Given the description of an element on the screen output the (x, y) to click on. 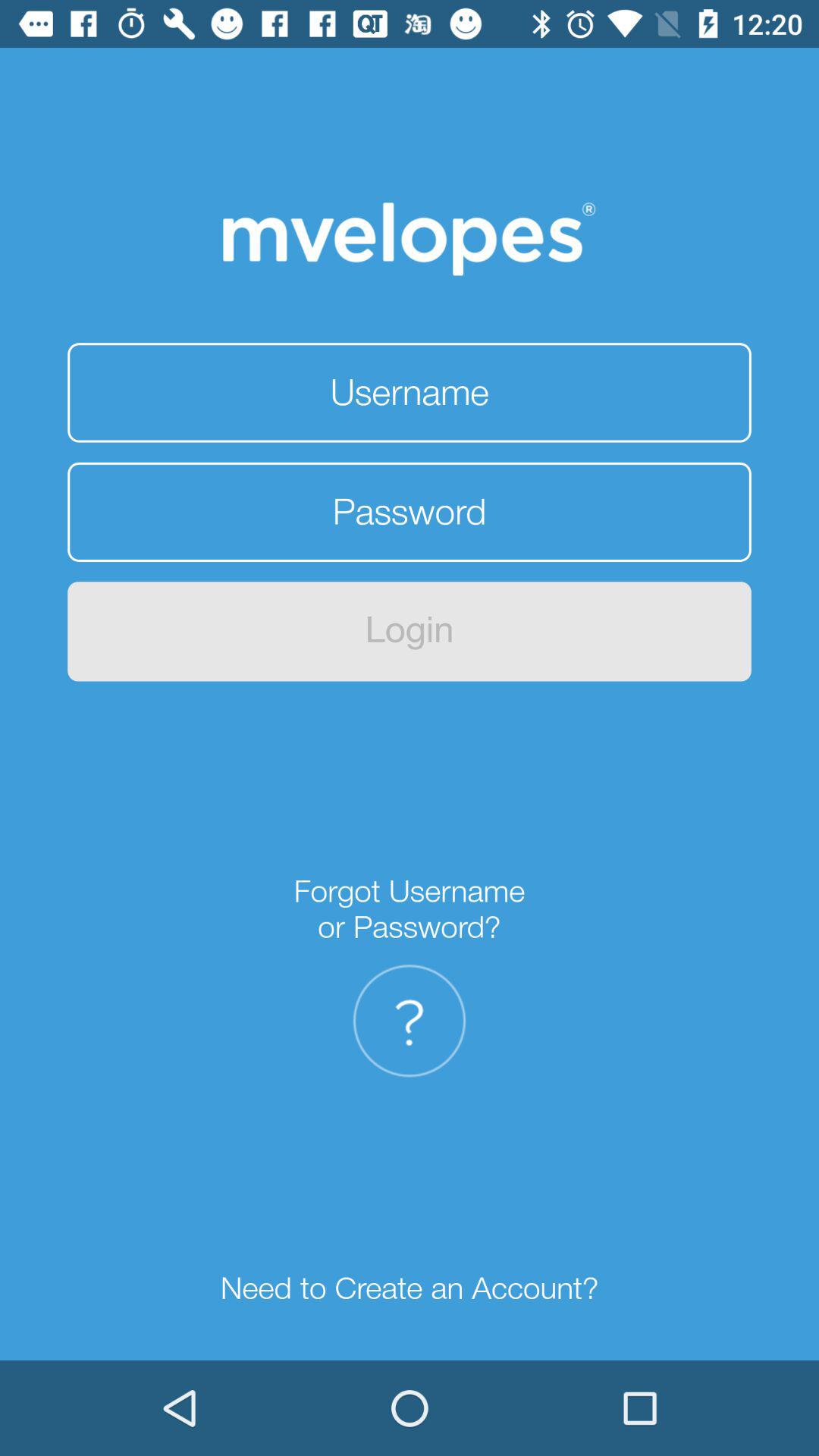
enter username (409, 392)
